Given the description of an element on the screen output the (x, y) to click on. 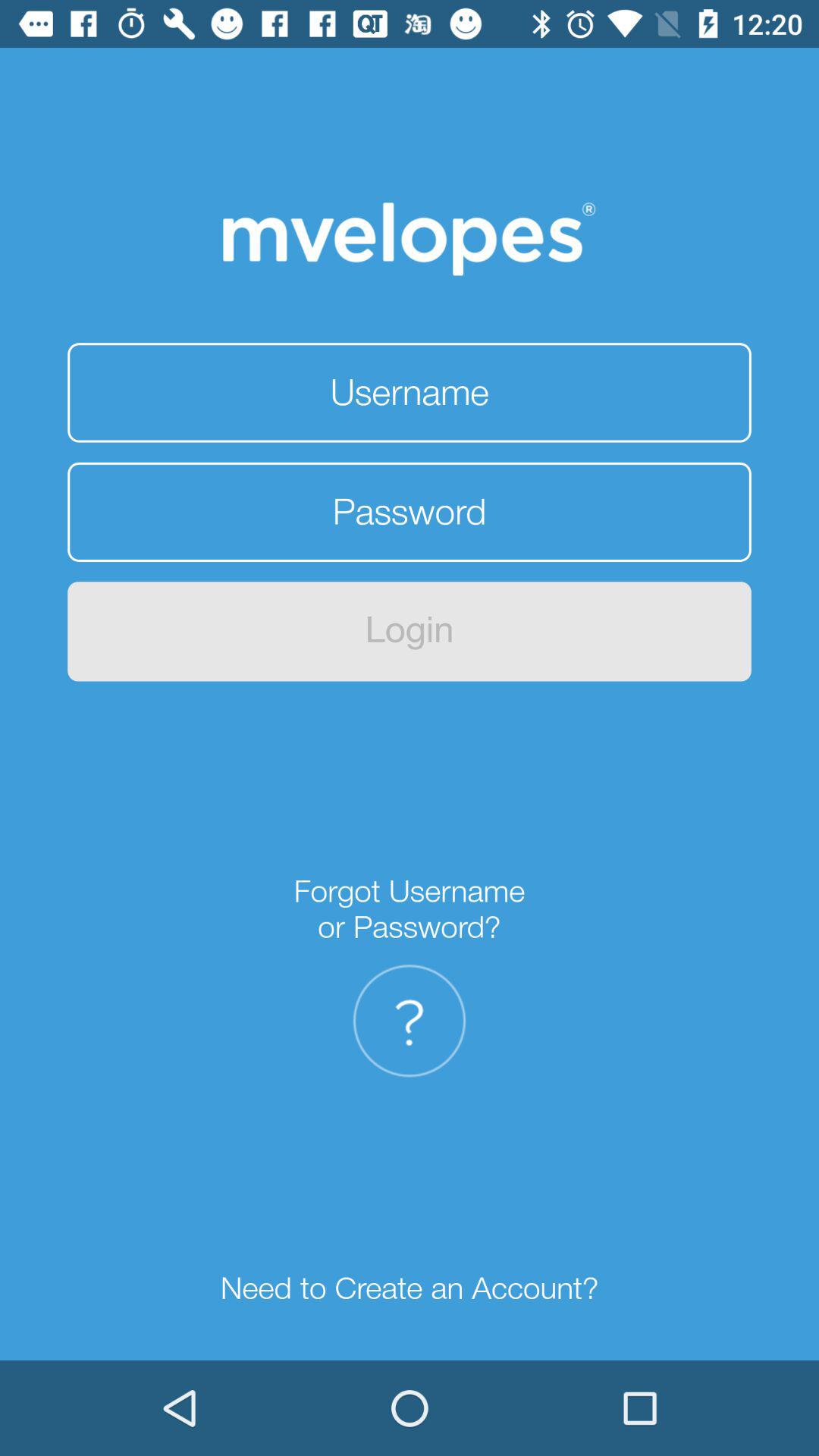
enter username (409, 392)
